Given the description of an element on the screen output the (x, y) to click on. 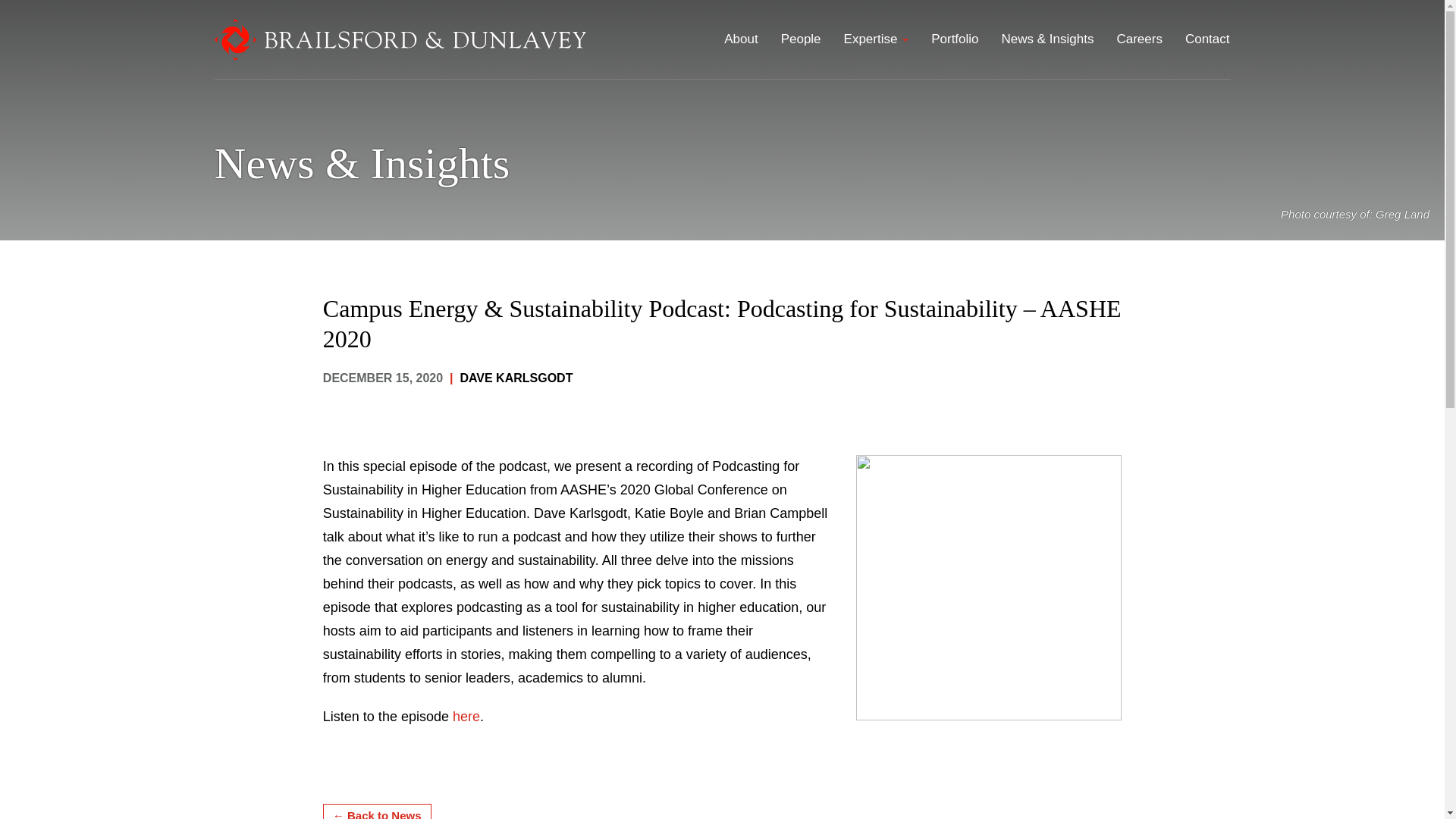
People (800, 38)
Contact (1207, 38)
About (740, 38)
Skip to content (746, 21)
DAVE KARLSGODT (516, 377)
Careers (1138, 38)
Portfolio (954, 38)
here (466, 716)
Expertise (876, 38)
